Given the description of an element on the screen output the (x, y) to click on. 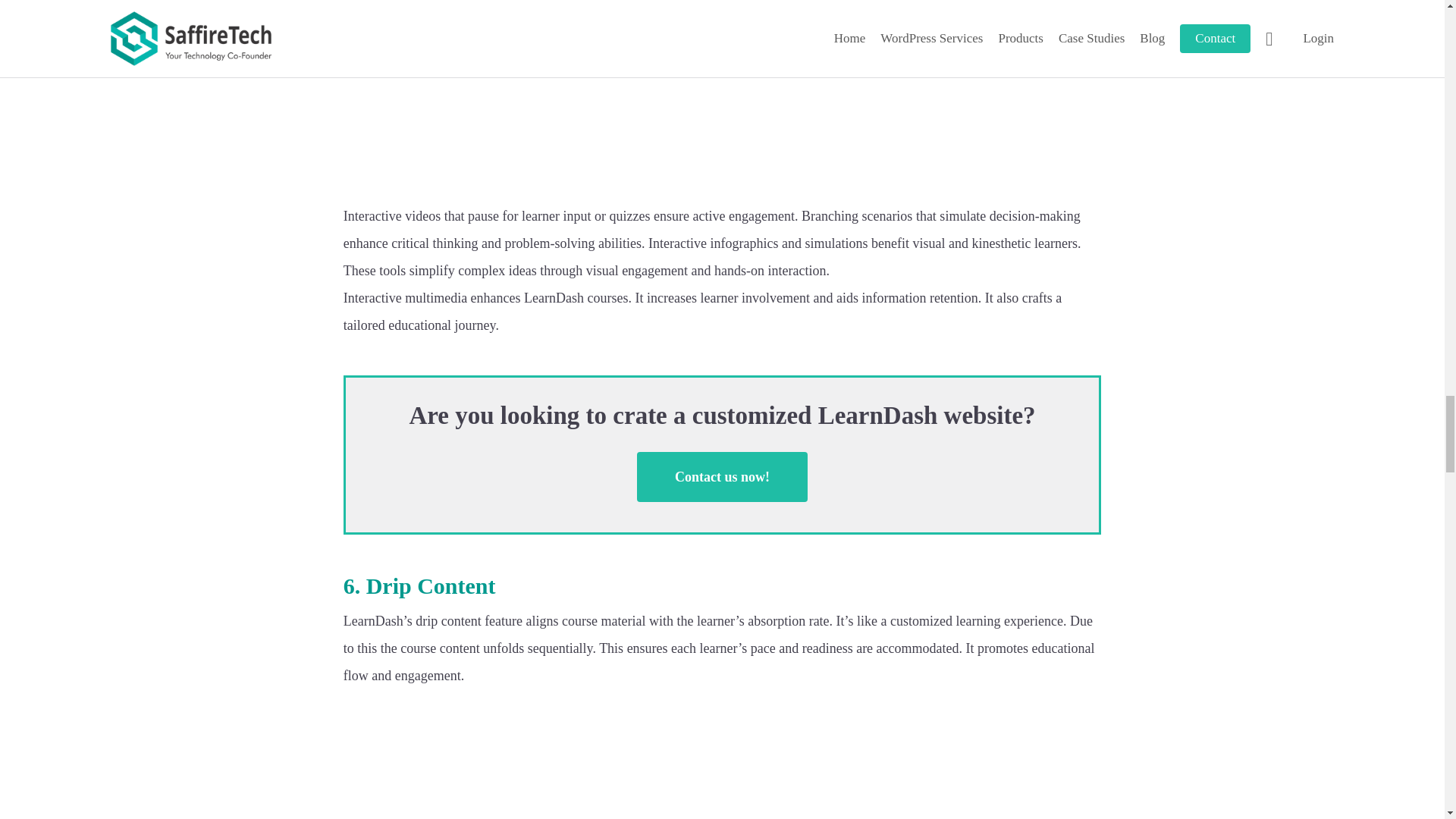
Contact us now! (722, 477)
